Given the description of an element on the screen output the (x, y) to click on. 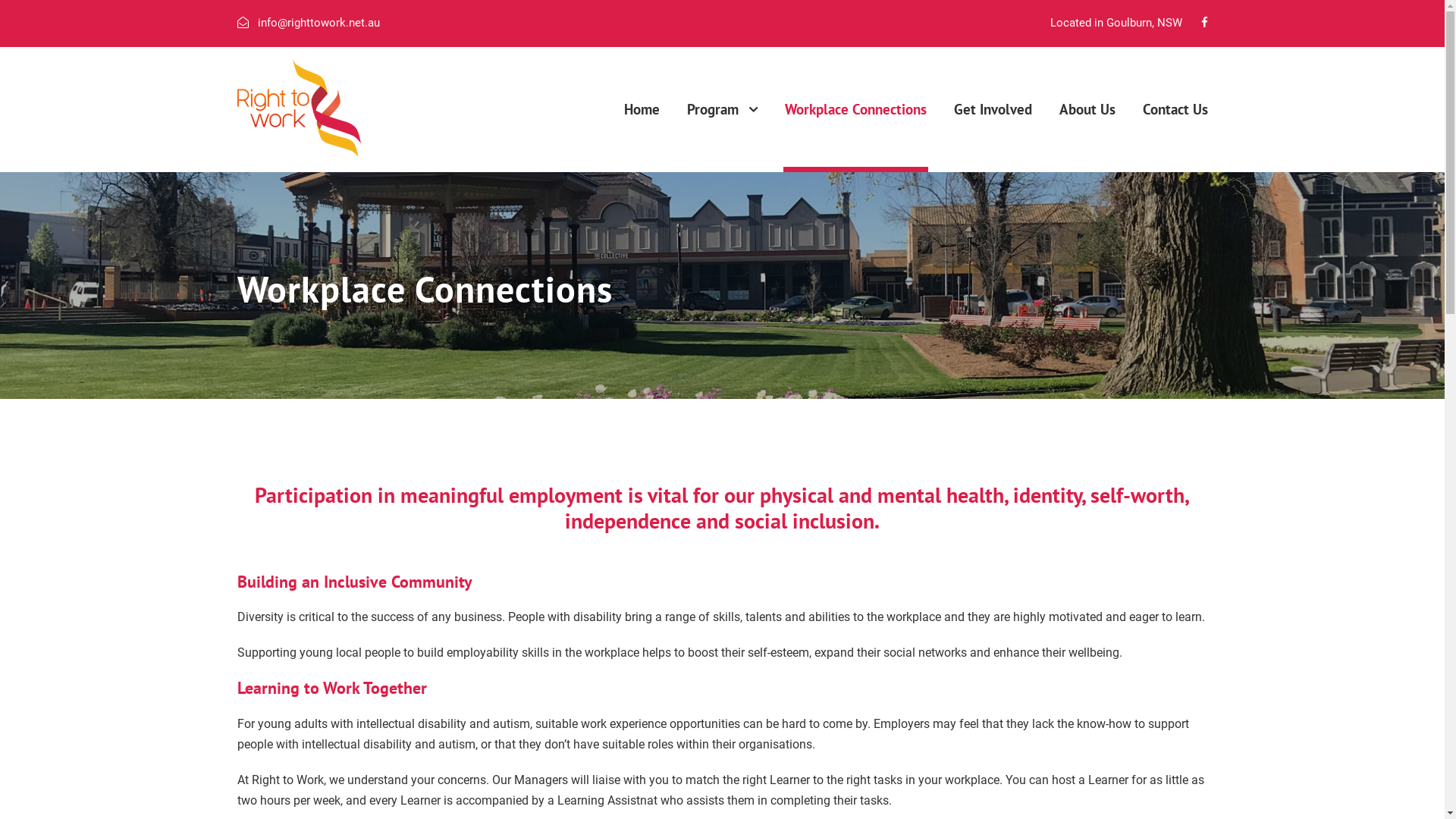
Get Involved Element type: text (992, 134)
Program Element type: text (722, 134)
About Us Element type: text (1086, 134)
Workplace Connections Element type: text (854, 134)
Home Element type: text (640, 134)
Contact Us Element type: text (1174, 134)
RtoW_Logo1 Element type: hover (298, 106)
info@righttowork.net.au Element type: text (318, 22)
facebook Element type: hover (1204, 22)
